Given the description of an element on the screen output the (x, y) to click on. 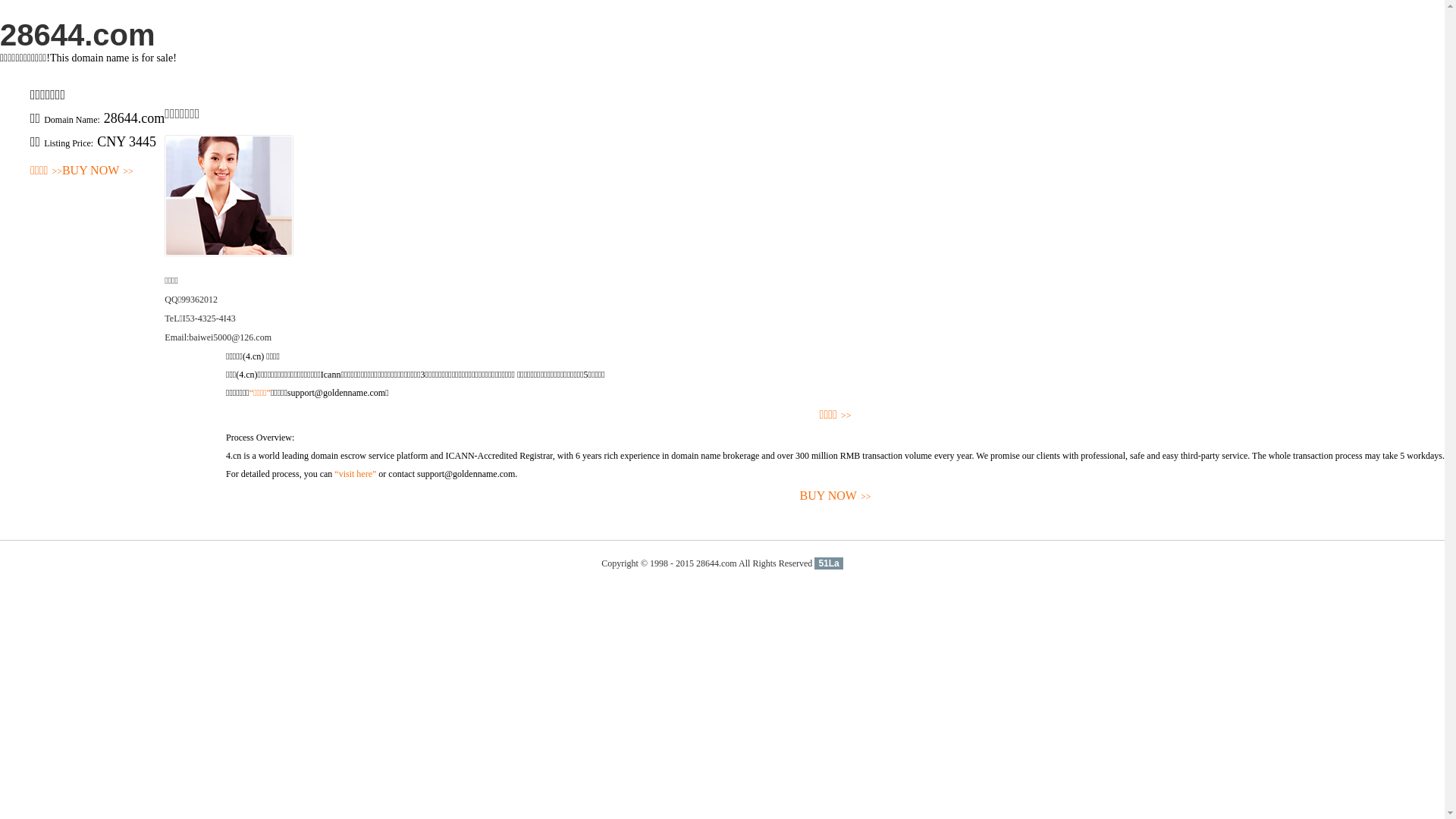
BUY NOW>> Element type: text (834, 496)
BUY NOW>> Element type: text (97, 170)
51La Element type: text (828, 563)
